Given the description of an element on the screen output the (x, y) to click on. 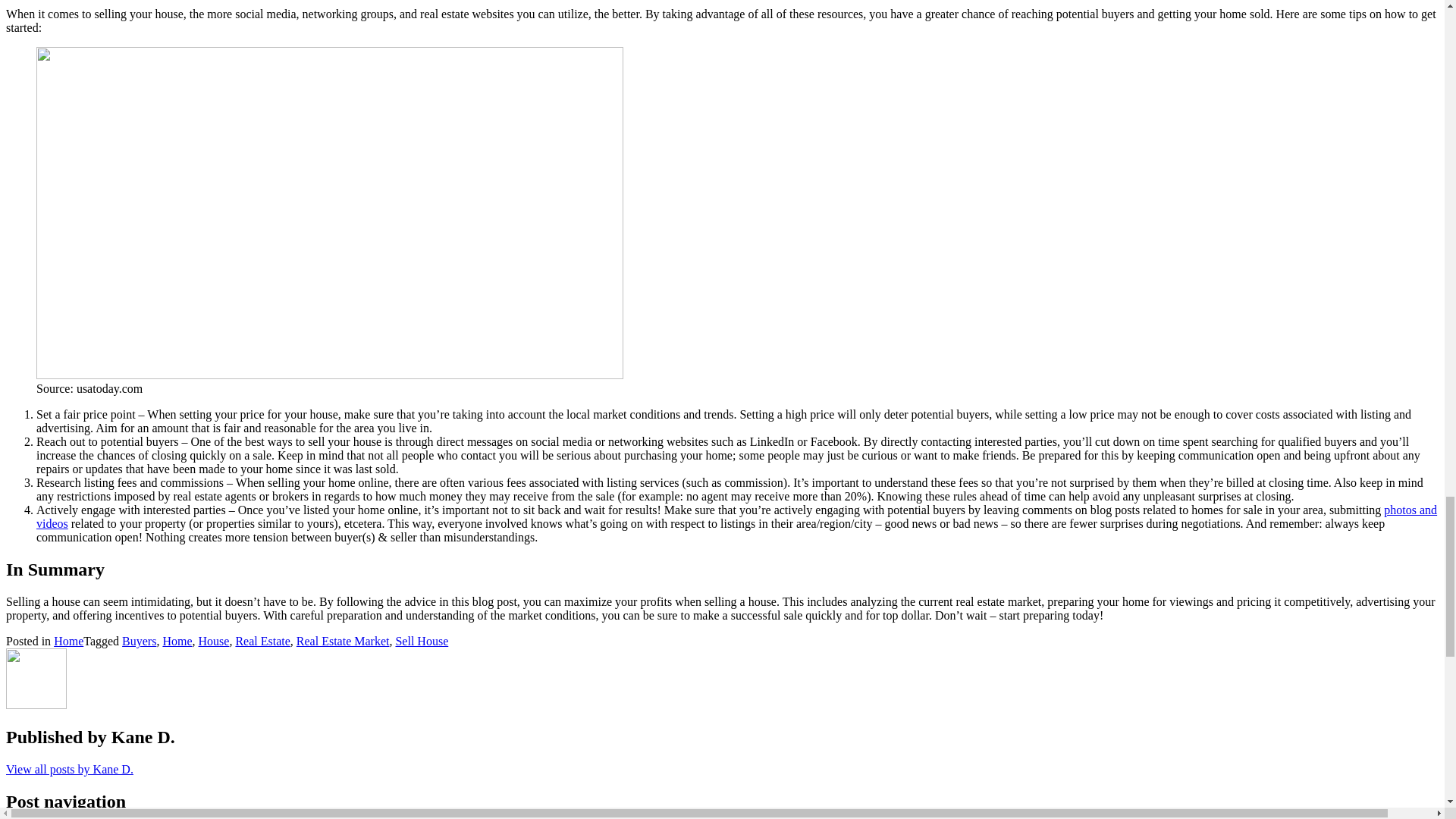
View all posts by Kane D. (69, 768)
Sell House (421, 640)
Home (67, 640)
photos and videos (736, 516)
Real Estate (261, 640)
Buyers (138, 640)
House (214, 640)
Home (176, 640)
Real Estate Market (343, 640)
